Given the description of an element on the screen output the (x, y) to click on. 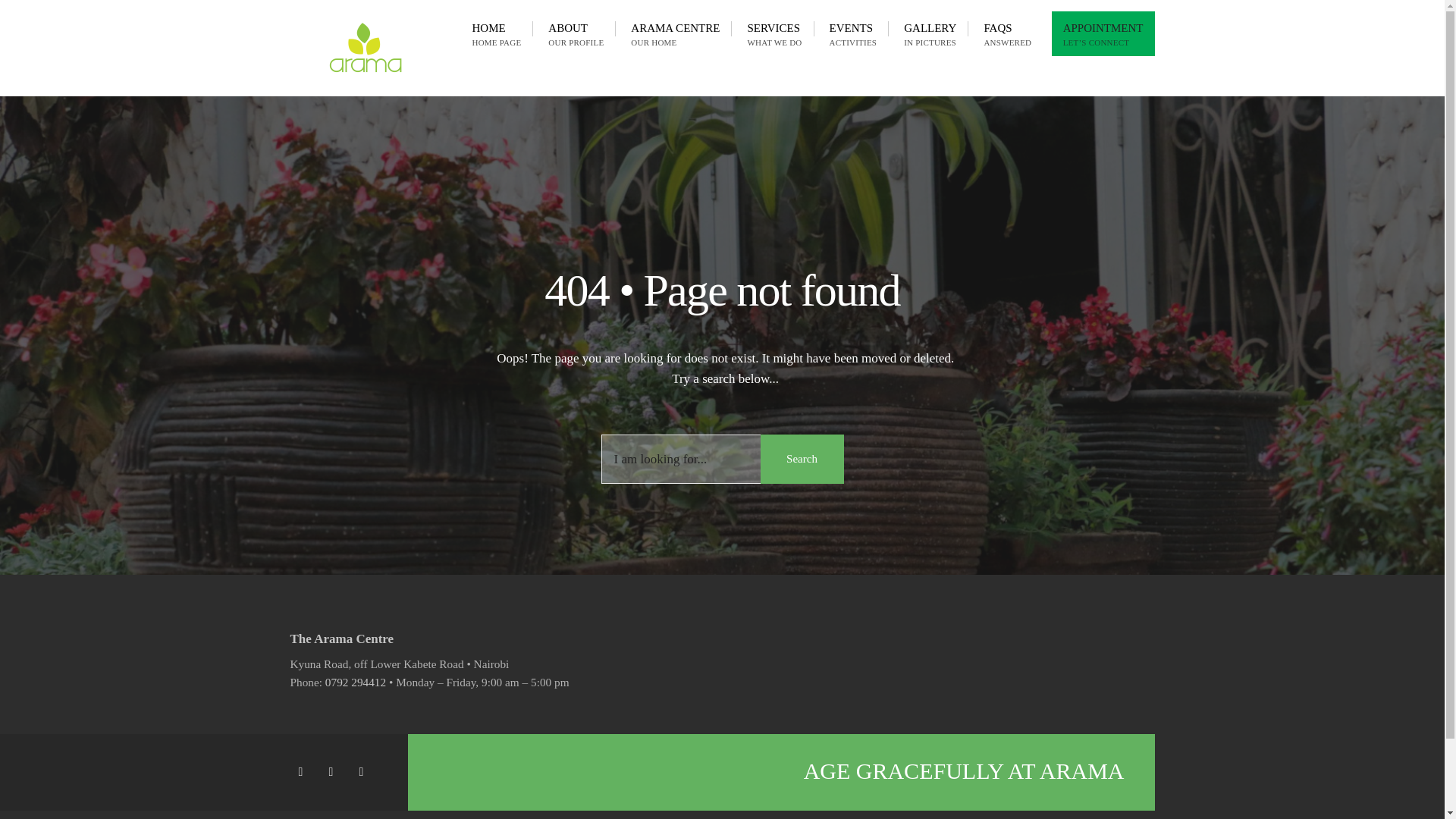
Facebook (302, 772)
I am looking for... (721, 459)
Search (801, 459)
Instagram (930, 33)
0792 294412 (363, 772)
Skip to content (1007, 33)
Twitter (354, 681)
